Given the description of an element on the screen output the (x, y) to click on. 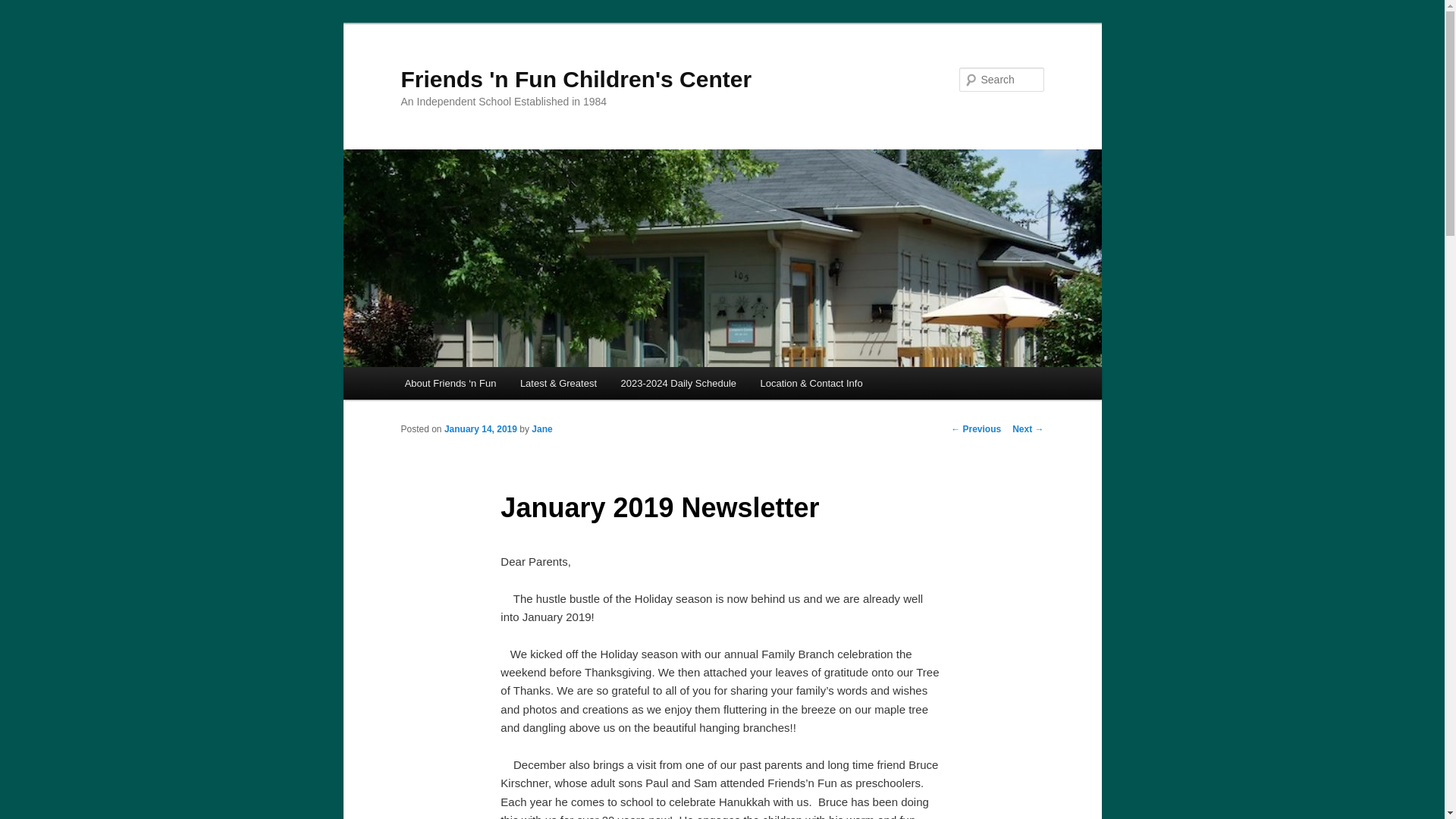
Friends 'n Fun Children's Center (575, 78)
View all posts by Jane (541, 429)
Search (24, 8)
2023-2024 Daily Schedule (678, 382)
2:05 pm (480, 429)
Jane (541, 429)
January 14, 2019 (480, 429)
